Given the description of an element on the screen output the (x, y) to click on. 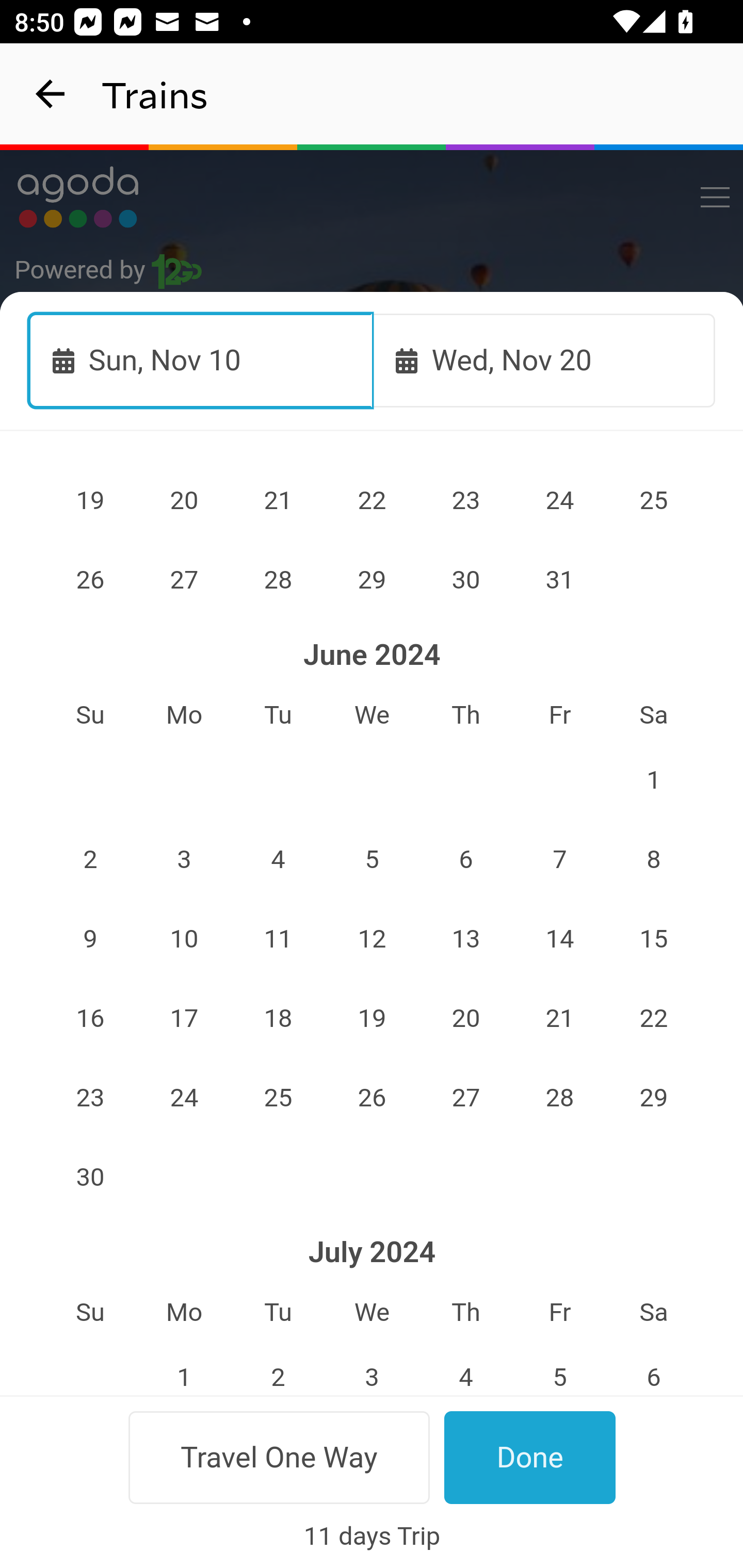
navigation_button (50, 93)
Sun, Nov 10 (200, 359)
Wed, Nov 20 (544, 359)
19 (90, 500)
20 (184, 500)
21 (278, 500)
22 (372, 500)
23 (465, 500)
24 (559, 500)
25 (654, 500)
26 (90, 579)
27 (184, 579)
28 (278, 579)
29 (372, 579)
30 (465, 579)
31 (559, 579)
1 (654, 779)
2 (90, 859)
3 (184, 859)
4 (278, 859)
5 (372, 859)
6 (465, 859)
7 (559, 859)
8 (654, 859)
9 (90, 938)
10 (184, 938)
11 (278, 938)
12 (372, 938)
13 (465, 938)
14 (559, 938)
15 (654, 938)
16 (90, 1017)
17 (184, 1017)
18 (278, 1017)
19 (372, 1017)
20 (465, 1017)
21 (559, 1017)
22 (654, 1017)
23 (90, 1097)
24 (184, 1097)
25 (278, 1097)
26 (372, 1097)
27 (465, 1097)
28 (559, 1097)
29 (654, 1097)
30 (90, 1176)
1 (184, 1365)
2 (278, 1365)
3 (372, 1365)
4 (465, 1365)
5 (559, 1365)
6 (654, 1365)
Travel One Way (278, 1457)
Done (530, 1457)
